Given the description of an element on the screen output the (x, y) to click on. 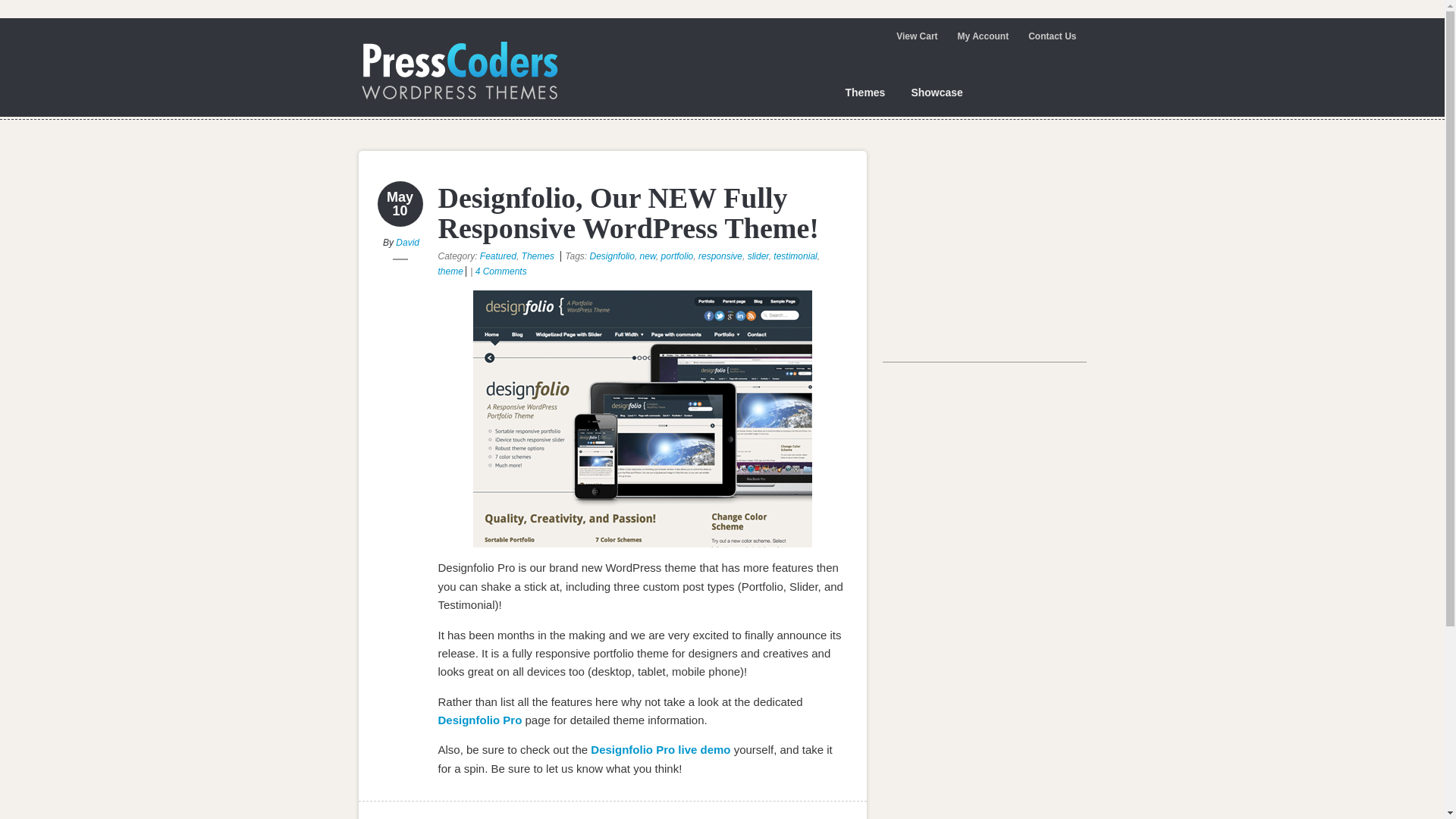
Showcase (936, 92)
theme (450, 271)
View Cart (916, 35)
Designfolio, Our NEW Fully Responsive WordPress Theme! (628, 212)
4 Comments (501, 271)
testimonial (794, 255)
Designfolio Pro live demo (660, 748)
Contact Us (1051, 35)
responsive (720, 255)
Posts by David (407, 242)
new (648, 255)
Themes (864, 92)
Designfolio Pro (480, 719)
My Account (983, 35)
Designfolio Pro (480, 719)
